Given the description of an element on the screen output the (x, y) to click on. 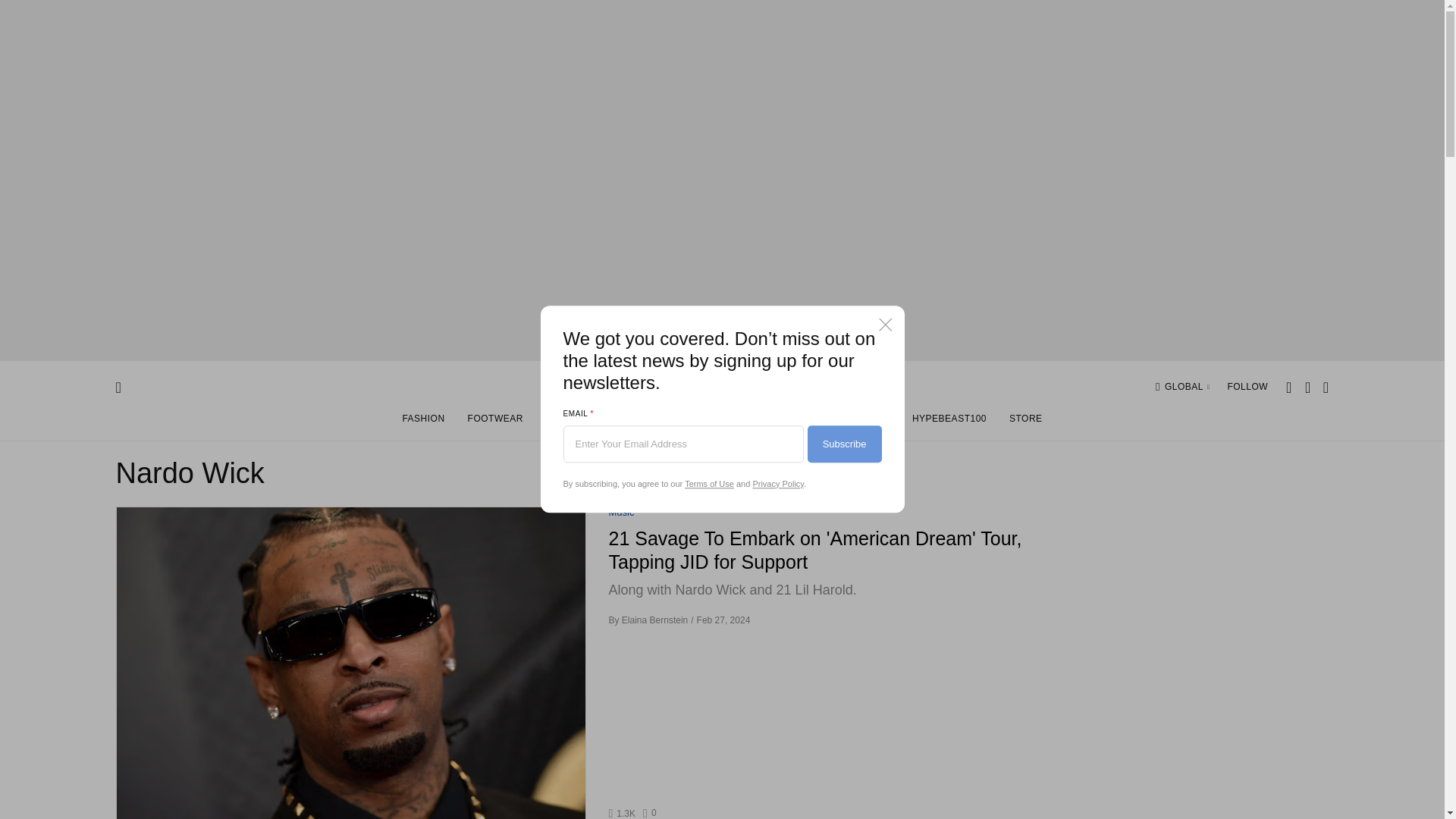
STORE (1025, 421)
GLOBAL (1187, 387)
3rd party ad content (1213, 601)
FASHION (422, 421)
FOLLOW (1247, 387)
MUSIC (663, 421)
Music (620, 512)
MAGAZINE (864, 421)
Music (620, 512)
FOOTWEAR (651, 813)
